Given the description of an element on the screen output the (x, y) to click on. 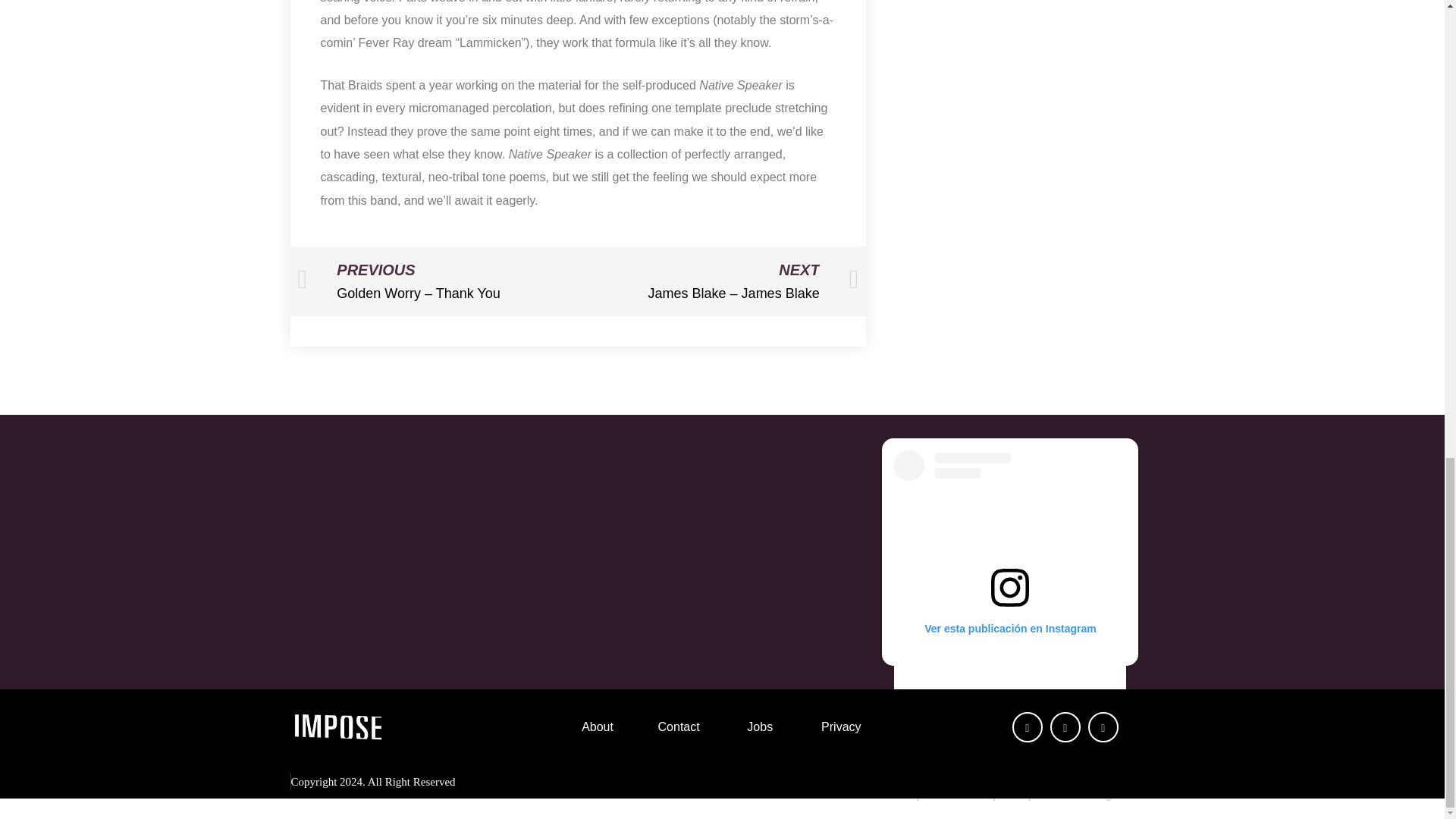
Twitter Timeline (721, 551)
